Given the description of an element on the screen output the (x, y) to click on. 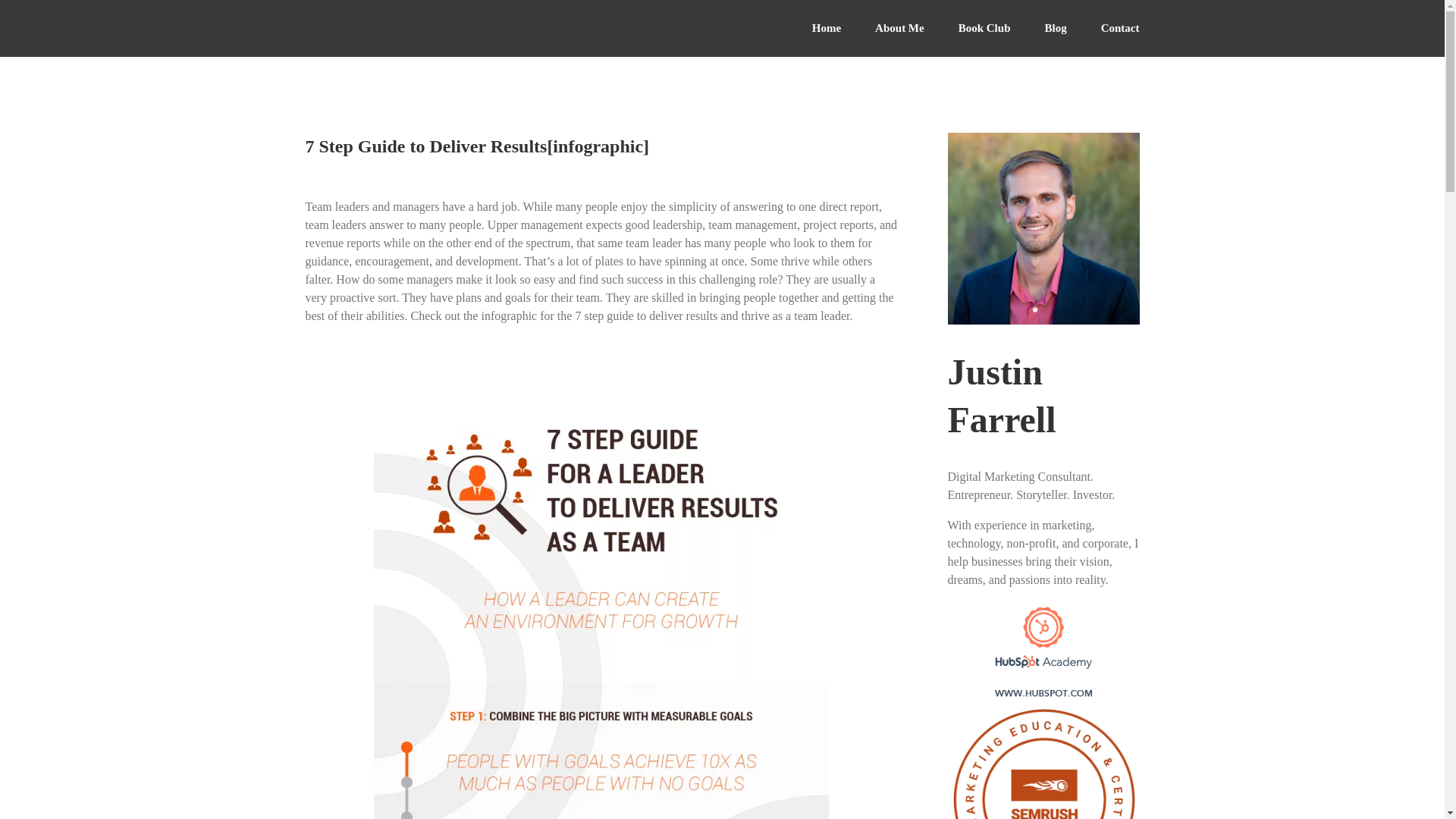
Content Marketing (1043, 609)
Book Club (984, 28)
